Given the description of an element on the screen output the (x, y) to click on. 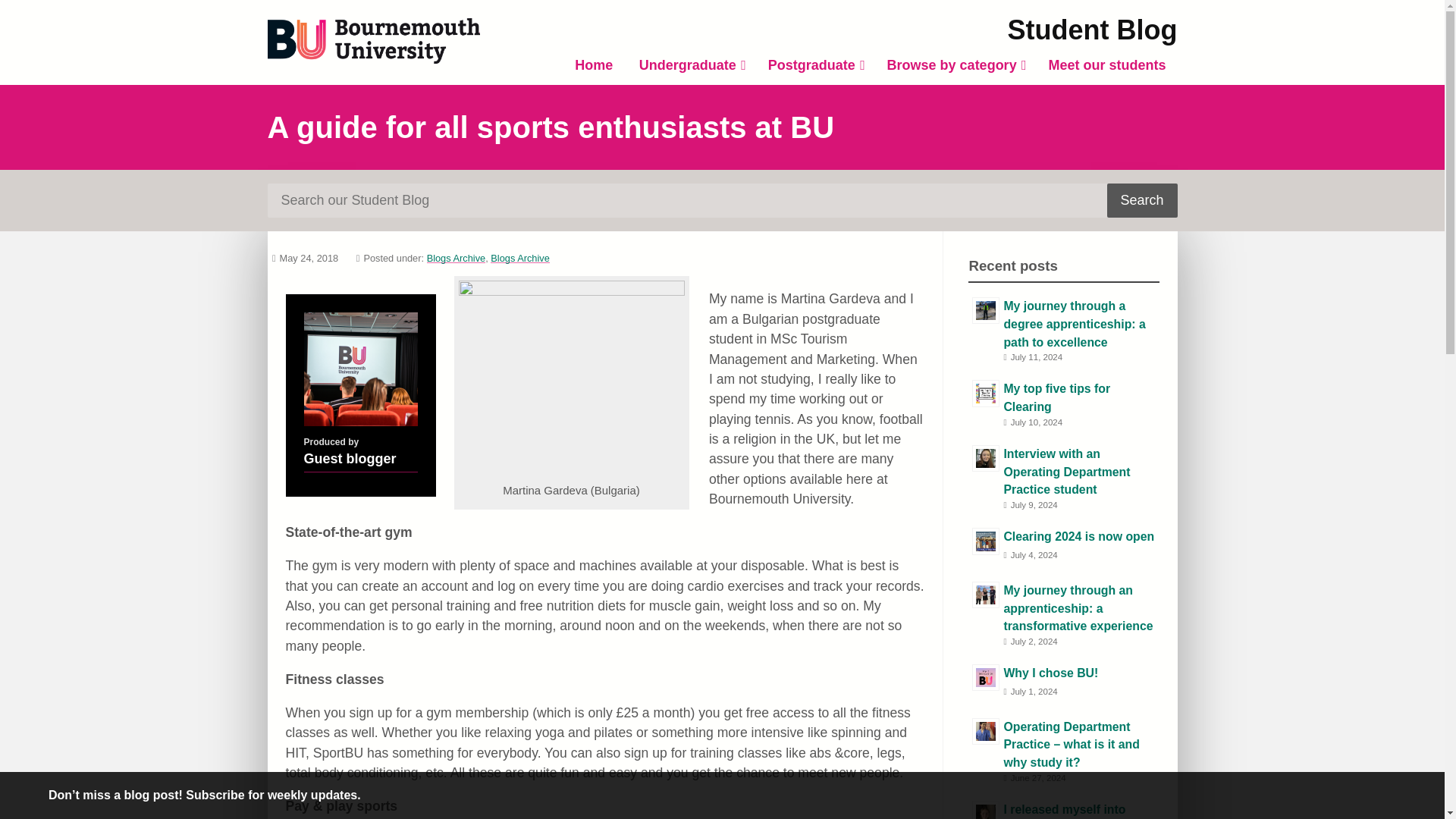
Bournemouth University home page (372, 40)
Bournemouth University (372, 40)
Student Blog (1092, 29)
Home (593, 65)
Postgraduate (814, 65)
Search (1141, 200)
Close (1417, 794)
Undergraduate (689, 65)
